Given the description of an element on the screen output the (x, y) to click on. 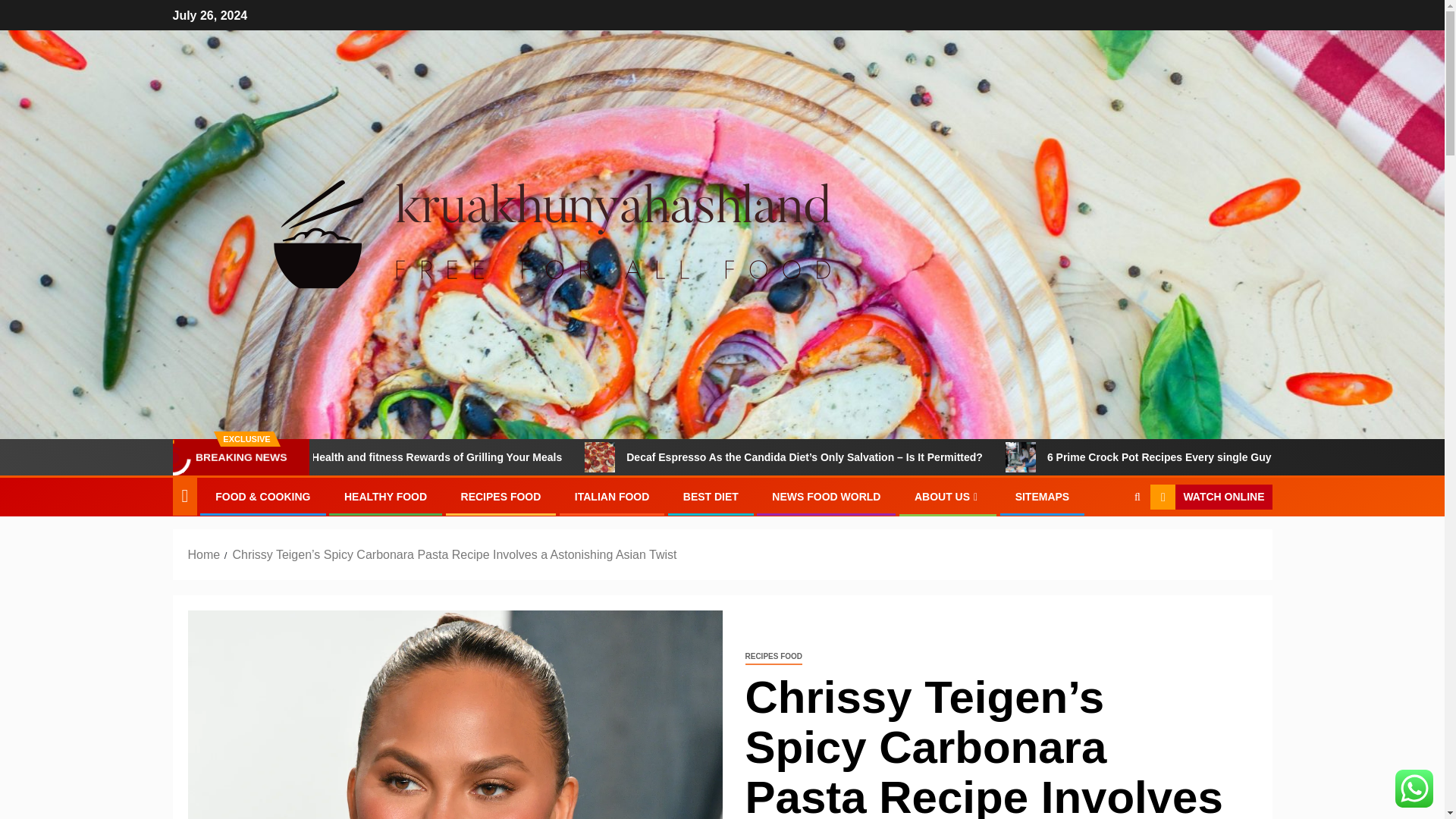
Home (204, 554)
NEWS FOOD WORLD (825, 496)
HEALTHY FOOD (384, 496)
ITALIAN FOOD (612, 496)
RECIPES FOOD (773, 657)
RECIPES FOOD (501, 496)
SITEMAPS (1042, 496)
6 Prime Crock Pot Recipes Every single Guy Will Like (1099, 457)
BEST DIET (710, 496)
ABOUT US (947, 496)
Search (1107, 543)
WATCH ONLINE (1210, 497)
